Given the description of an element on the screen output the (x, y) to click on. 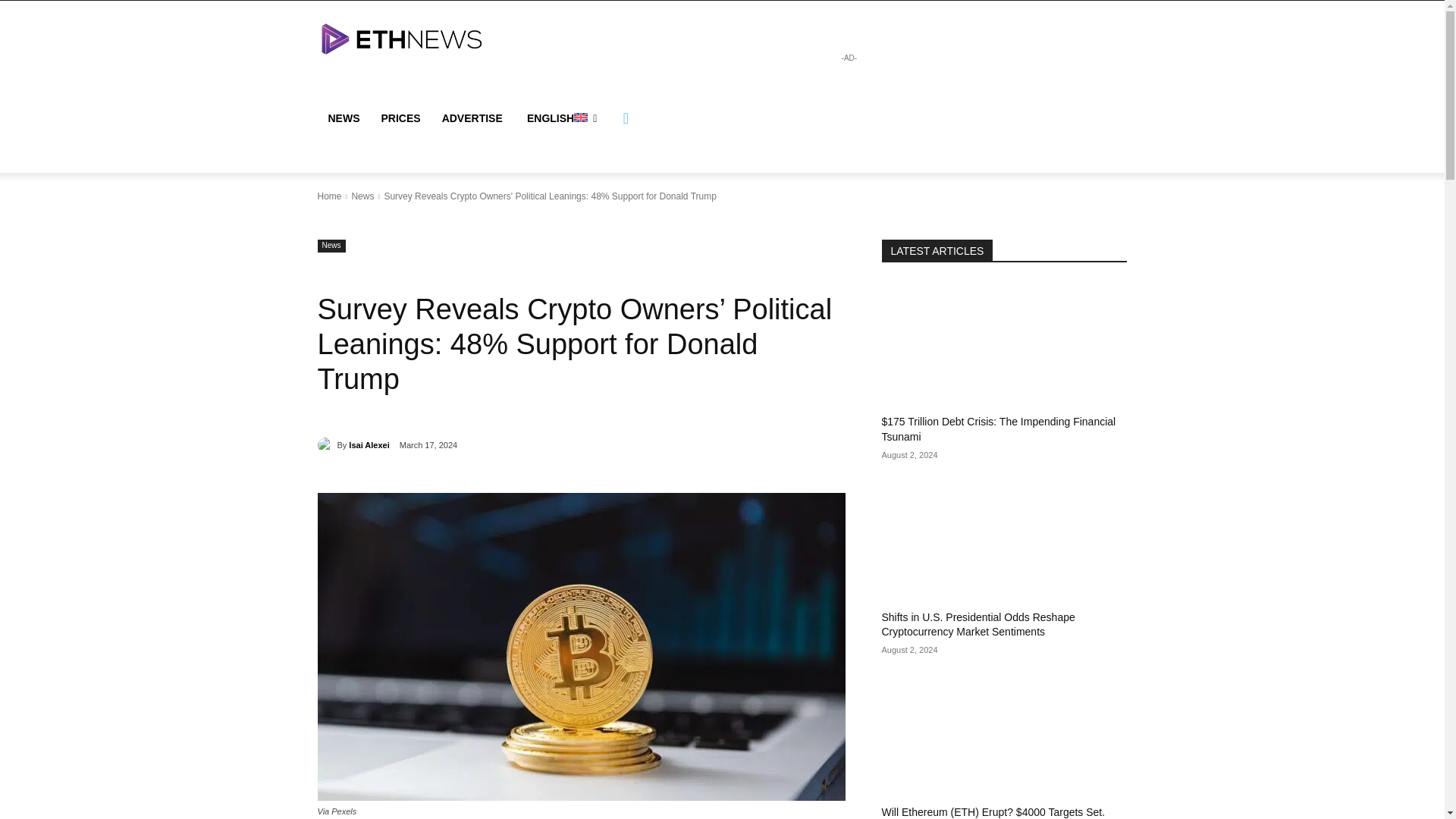
Home (328, 195)
NEWS (343, 117)
PRICES (399, 117)
View all posts in News (362, 195)
ADVERTISE (471, 117)
News (362, 195)
Isai Alexei (368, 445)
English (560, 117)
News (331, 245)
Isai Alexei (326, 444)
ENGLISH (560, 117)
